Given the description of an element on the screen output the (x, y) to click on. 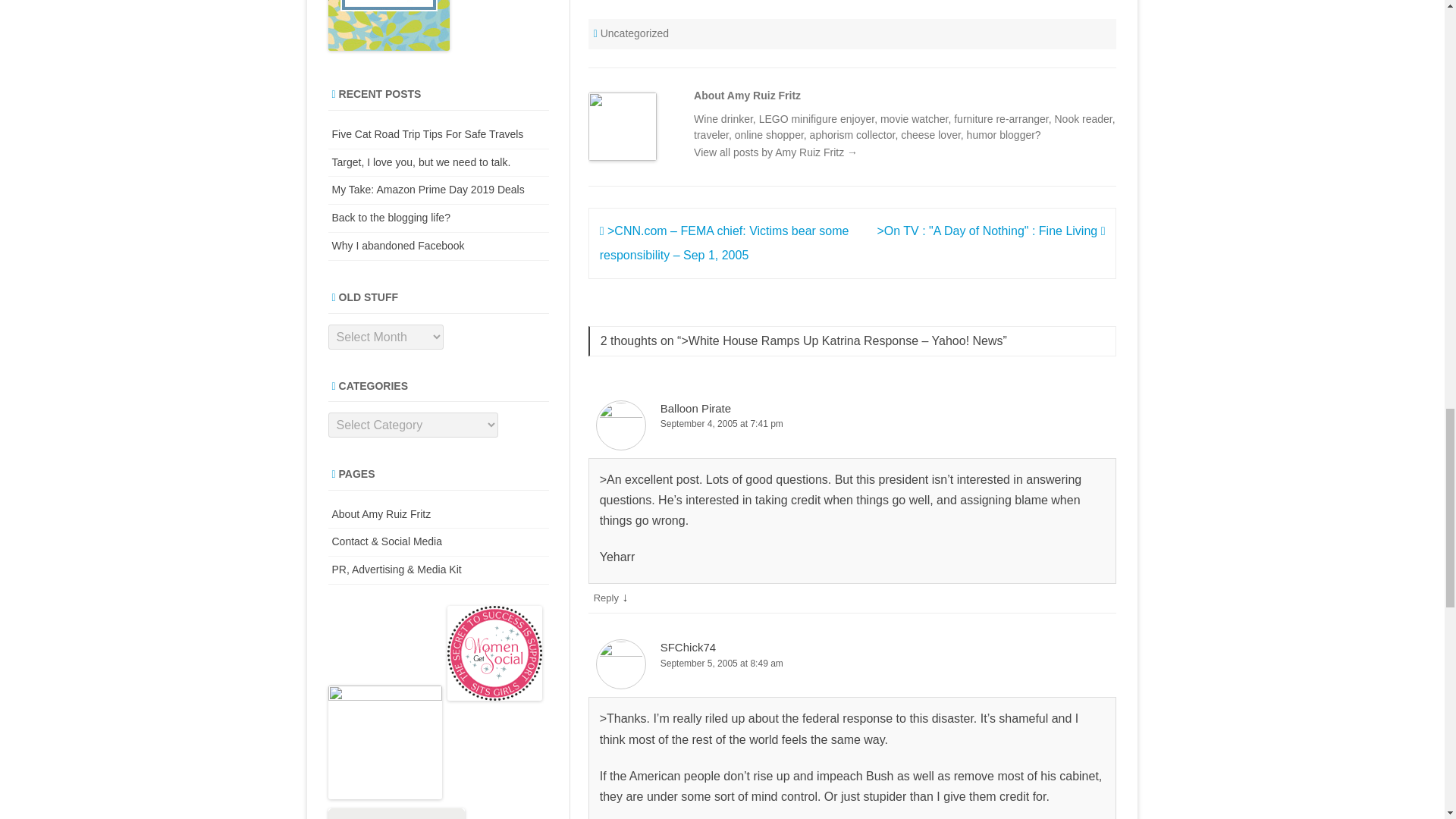
September 4, 2005 at 7:41 pm (852, 424)
Uncategorized (633, 33)
September 5, 2005 at 8:49 am (852, 663)
Reply (606, 597)
